Given the description of an element on the screen output the (x, y) to click on. 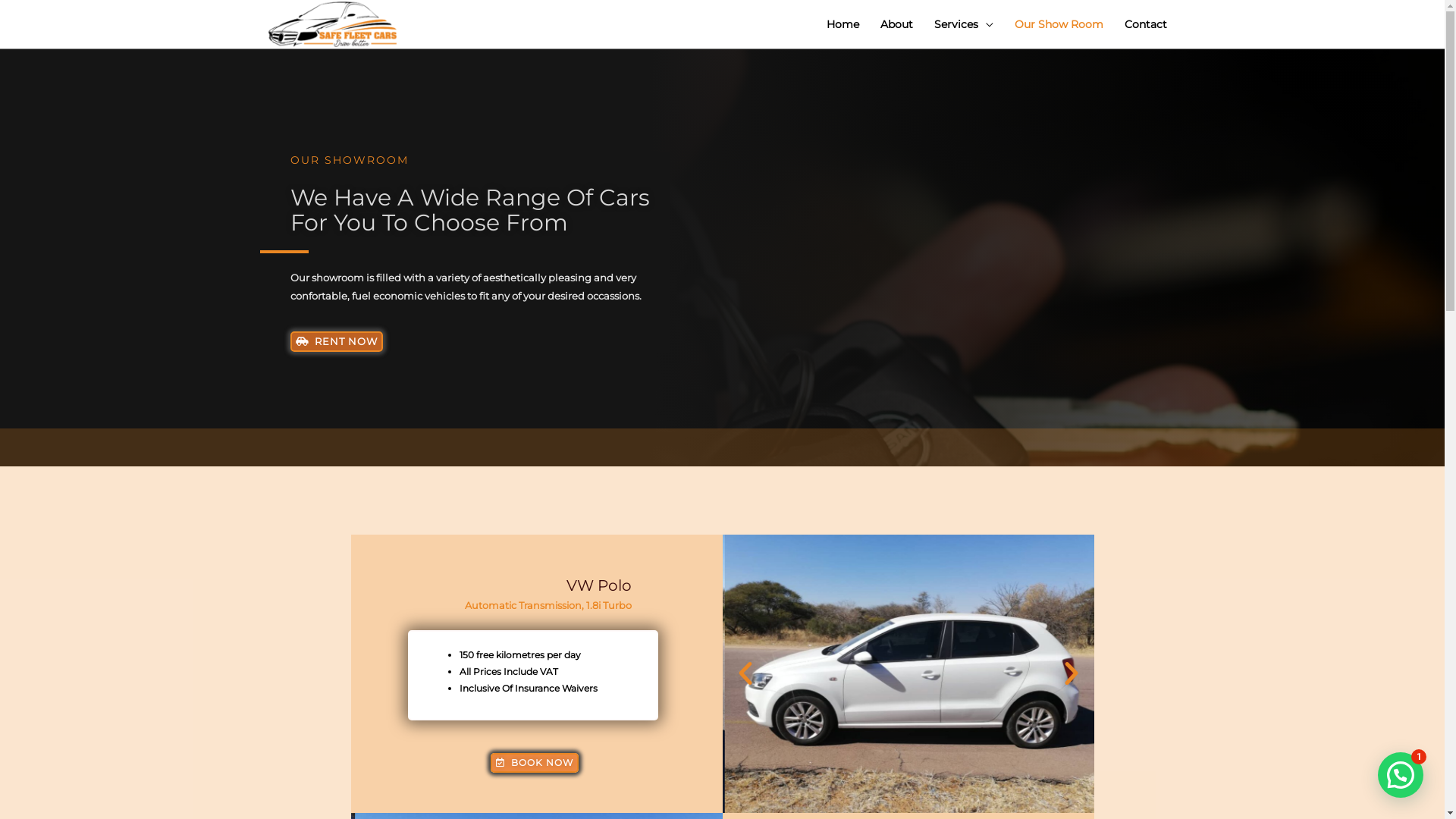
BOOK NOW Element type: text (534, 762)
Contact Element type: text (1144, 24)
RENT NOW Element type: text (335, 341)
About Element type: text (895, 24)
Our Show Room Element type: text (1058, 24)
Services Element type: text (963, 24)
Home Element type: text (842, 24)
